Given the description of an element on the screen output the (x, y) to click on. 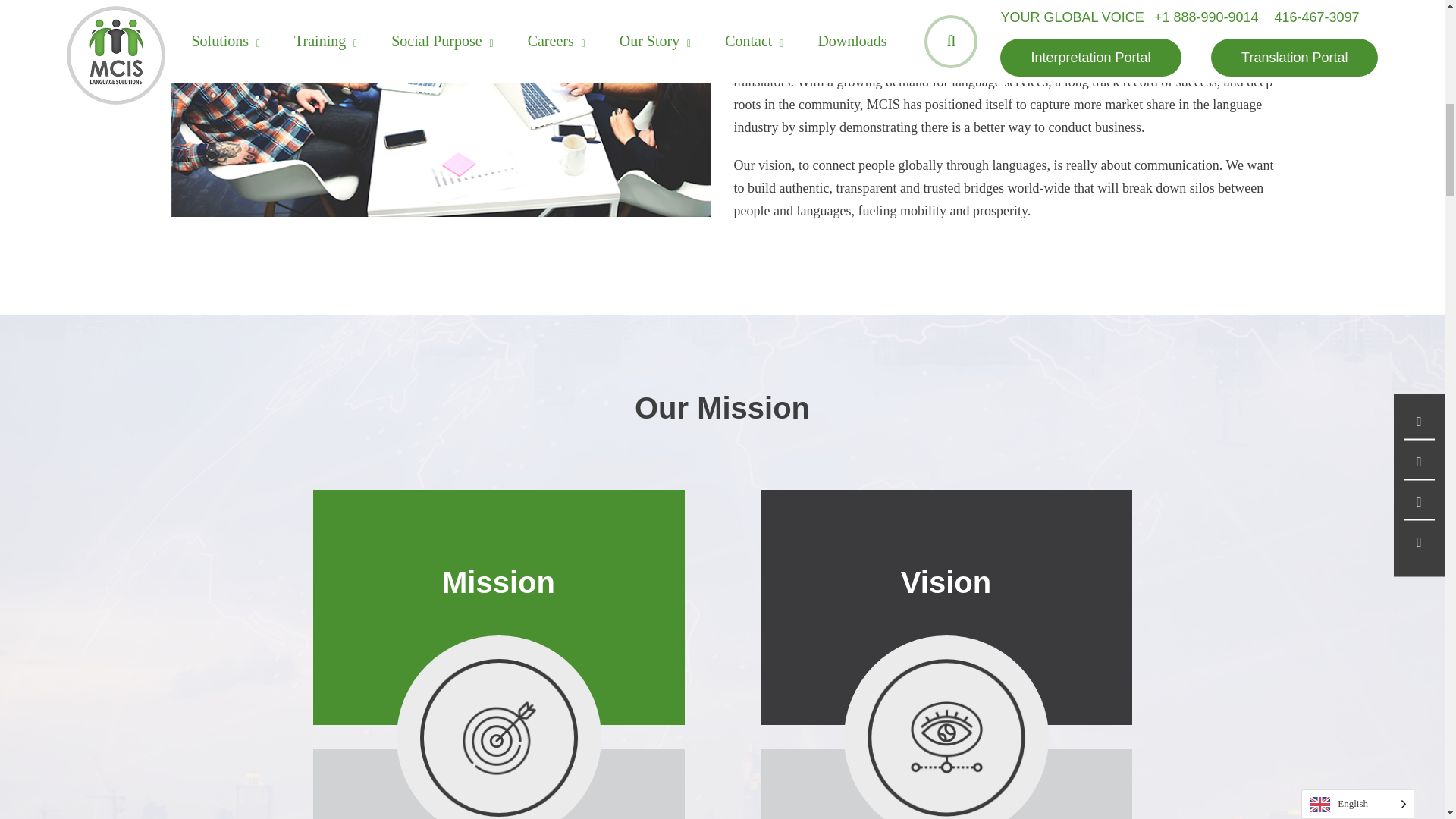
our-stories (440, 108)
